Given the description of an element on the screen output the (x, y) to click on. 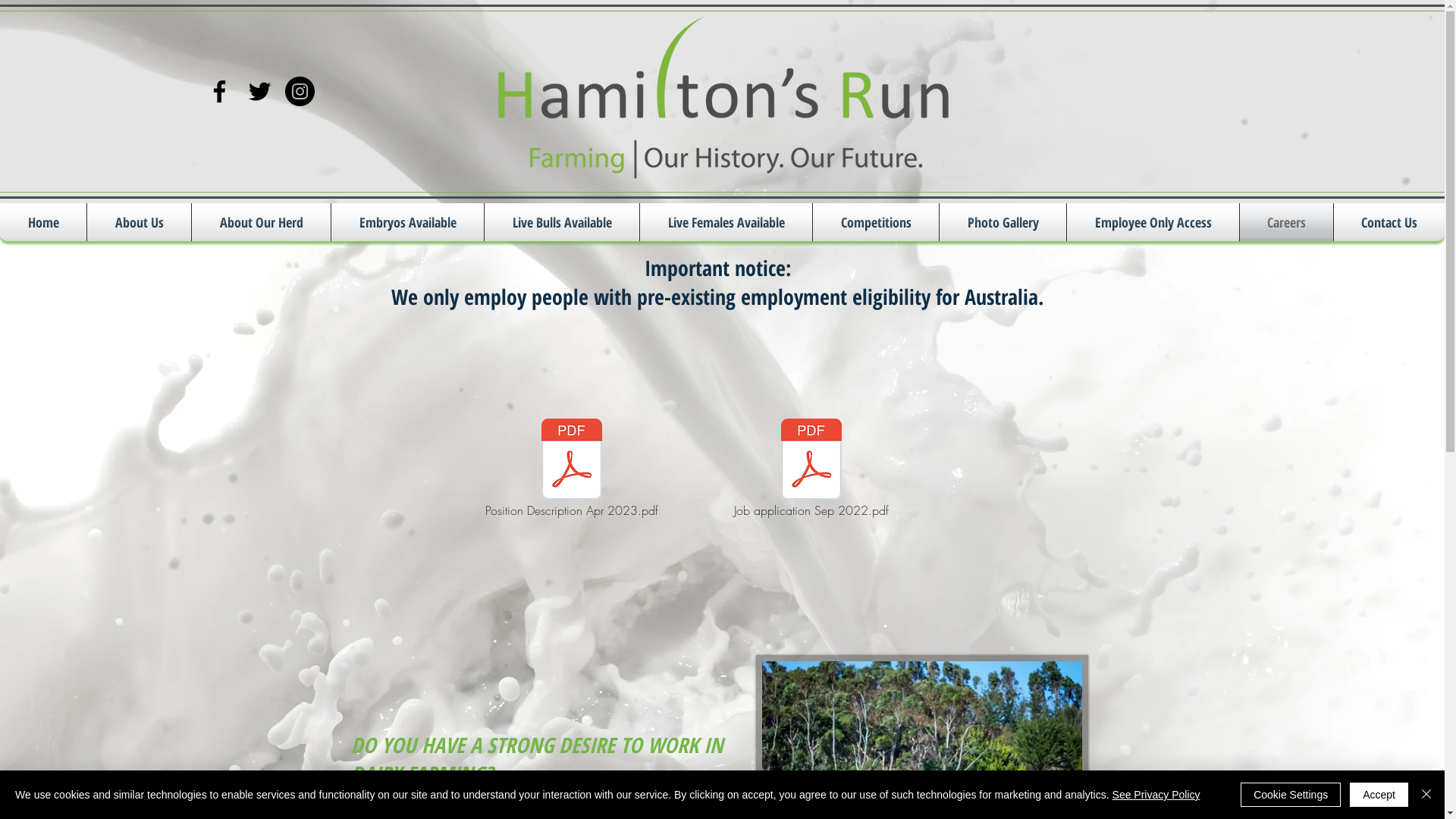
Position Description Apr 2023.pdf Element type: text (570, 469)
Live Females Available Element type: text (726, 222)
Accept Element type: text (1378, 794)
See Privacy Policy Element type: text (1156, 794)
Embryos Available Element type: text (407, 222)
Job application Sep 2022.pdf Element type: text (810, 469)
Photo Gallery Element type: text (1002, 222)
About Us Element type: text (139, 222)
Employee Only Access Element type: text (1152, 222)
Live Bulls Available Element type: text (561, 222)
Home Element type: text (43, 222)
About Our Herd Element type: text (260, 222)
Contact Us Element type: text (1388, 222)
Competitions Element type: text (875, 222)
Careers Element type: text (1286, 222)
Cookie Settings Element type: text (1290, 794)
